Given the description of an element on the screen output the (x, y) to click on. 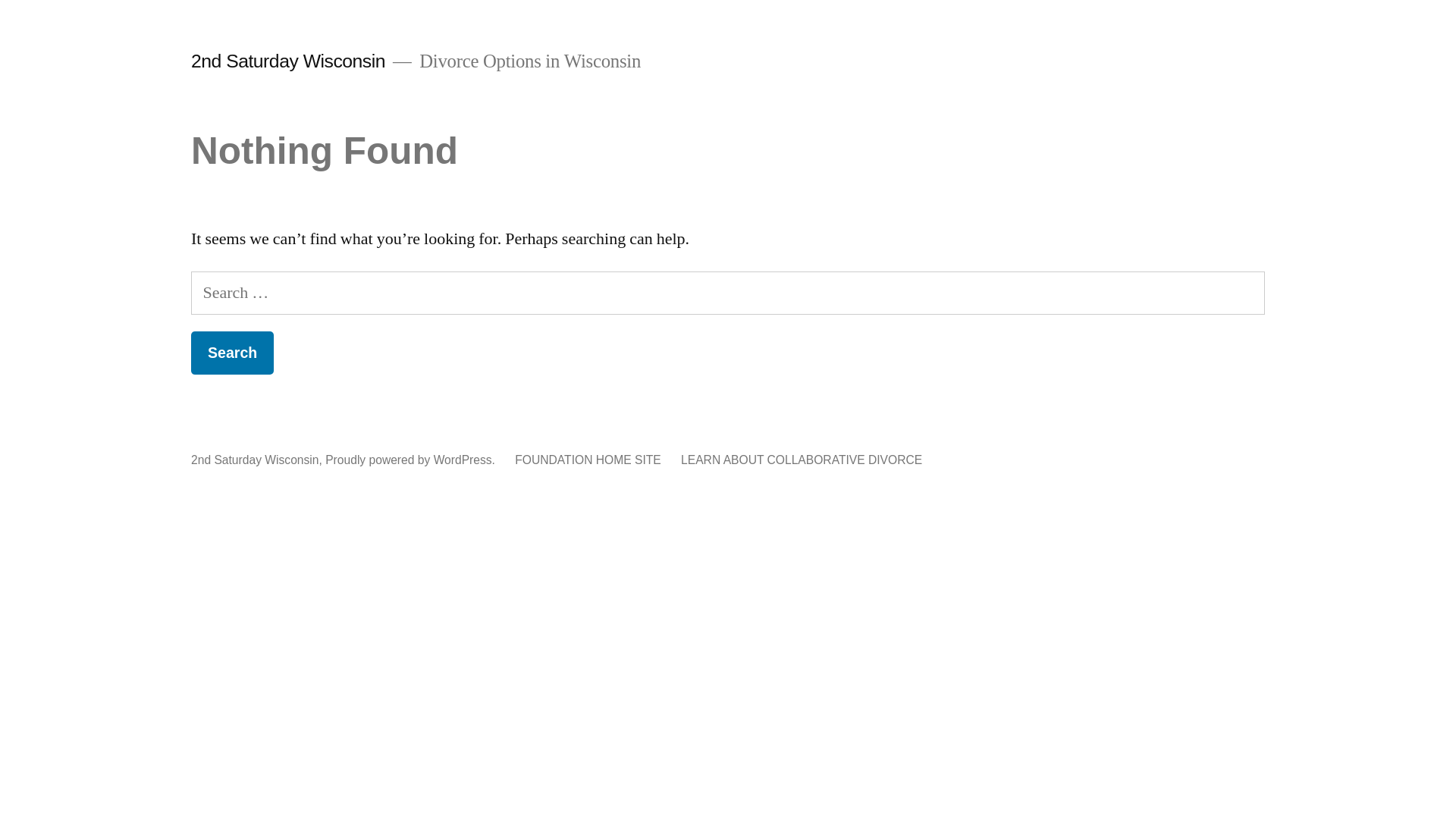
Proudly powered by WordPress. Element type: text (411, 459)
FOUNDATION HOME SITE Element type: text (587, 459)
LEARN ABOUT COLLABORATIVE DIVORCE Element type: text (801, 459)
Search Element type: text (232, 352)
2nd Saturday Wisconsin Element type: text (288, 60)
2nd Saturday Wisconsin Element type: text (255, 459)
